Given the description of an element on the screen output the (x, y) to click on. 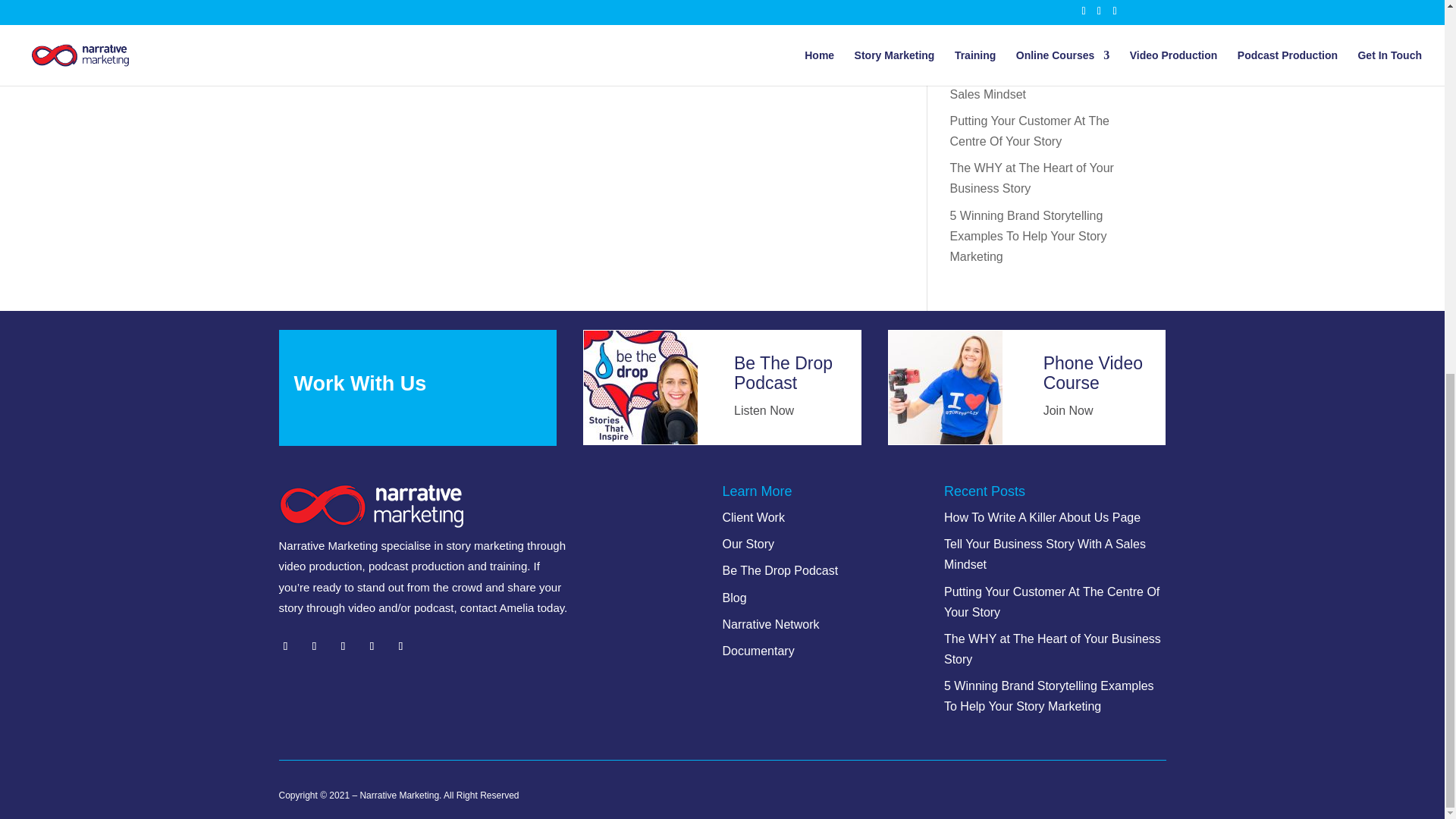
How To Write A Killer About Us Page (1031, 36)
Follow on Instagram (372, 645)
Follow on Twitter (314, 645)
Follow on Facebook (286, 645)
Follow on Youtube (401, 645)
Tell Your Business Story With A Sales Mindset (1032, 82)
footer-logo (371, 505)
Follow on LinkedIn (343, 645)
